Given the description of an element on the screen output the (x, y) to click on. 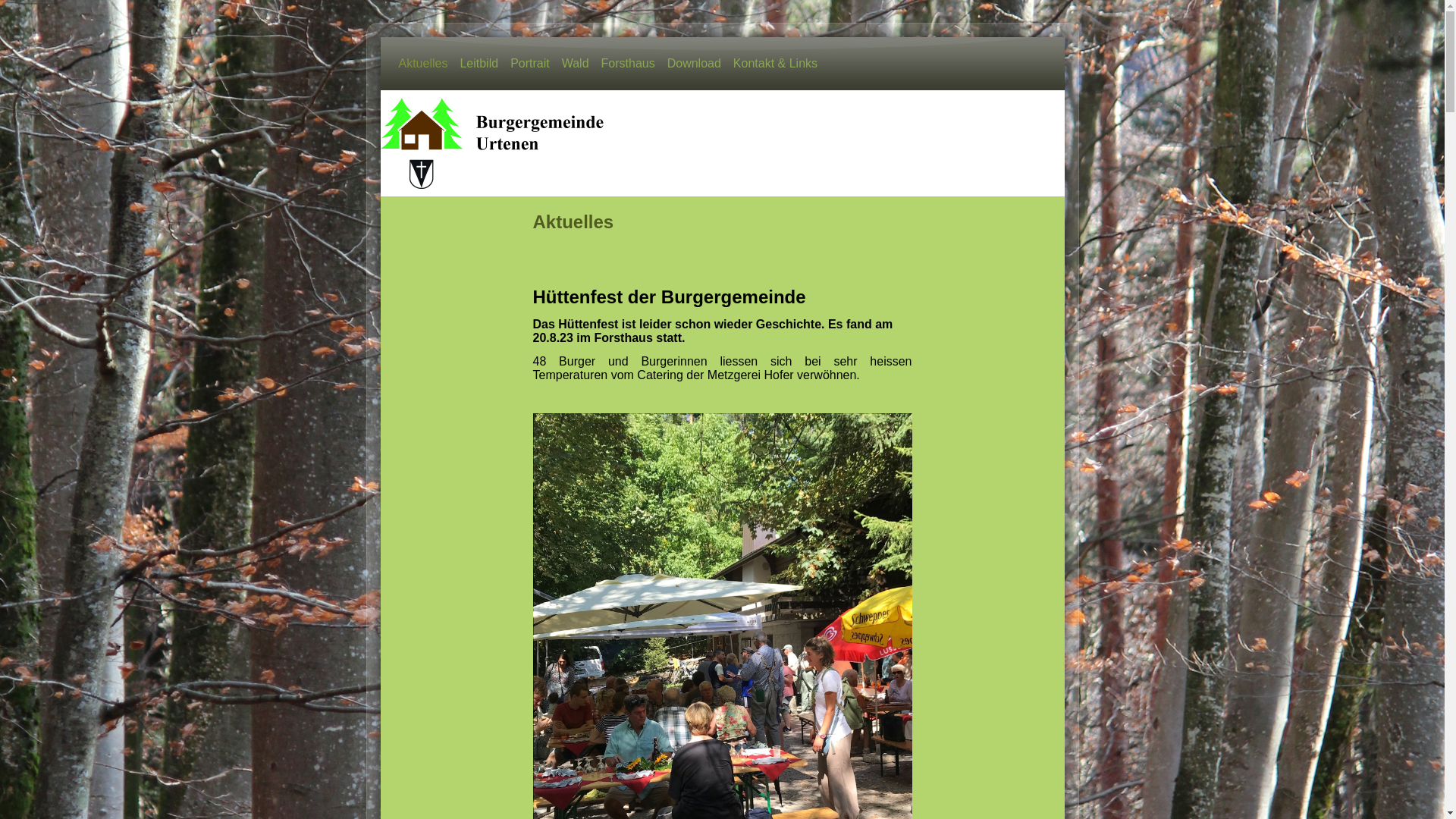
Leitbild Element type: text (478, 63)
Portrait Element type: text (529, 63)
Aktuelles Element type: text (423, 63)
Download Element type: text (694, 63)
Kontakt & Links Element type: text (775, 63)
Forsthaus Element type: text (628, 63)
Wald Element type: text (575, 63)
